Given the description of an element on the screen output the (x, y) to click on. 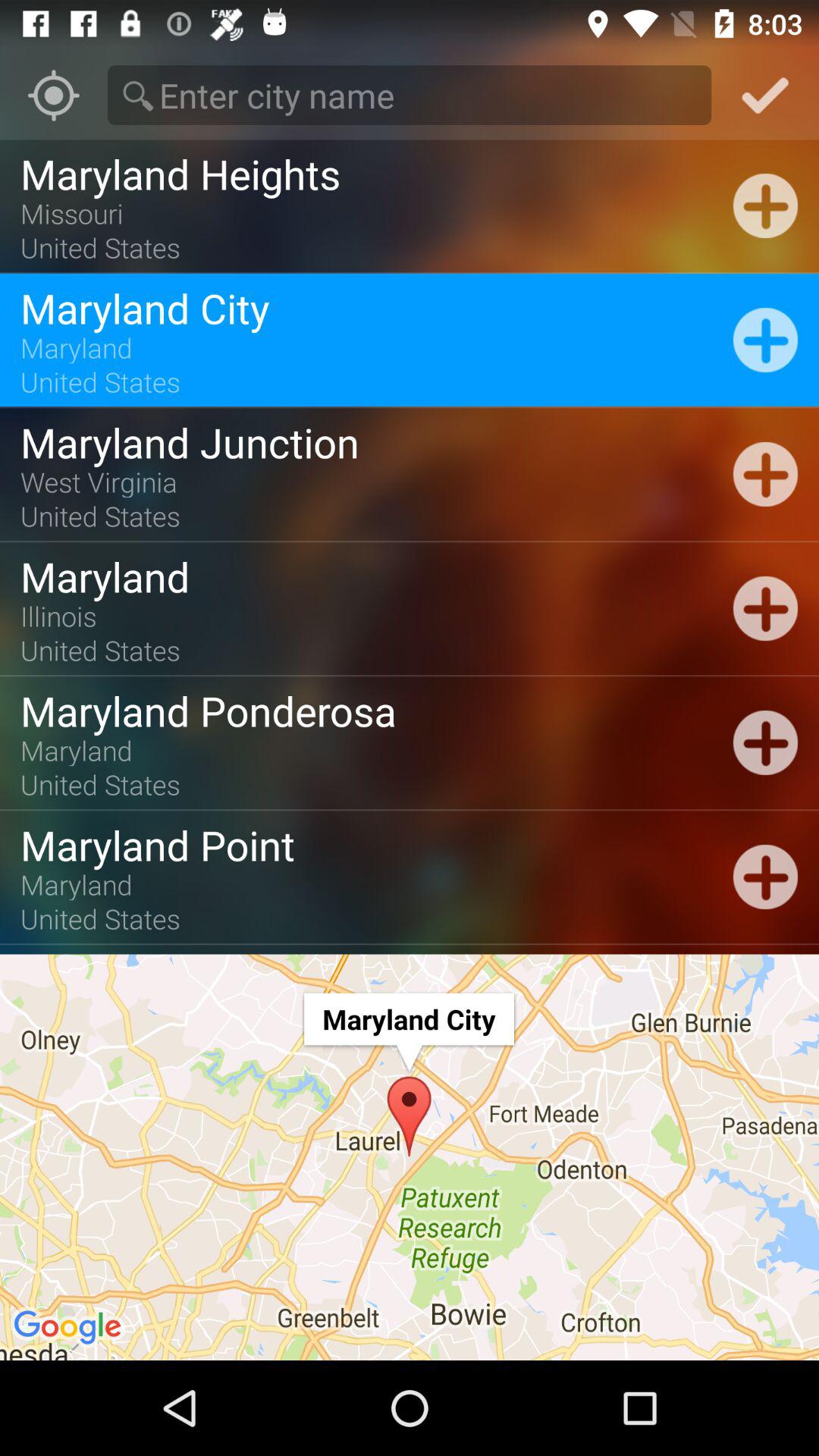
click on the search icon on the top left beside the enter my name (138, 95)
select the 1st  plus icon (765, 205)
select the add icon in the second block (765, 340)
